Given the description of an element on the screen output the (x, y) to click on. 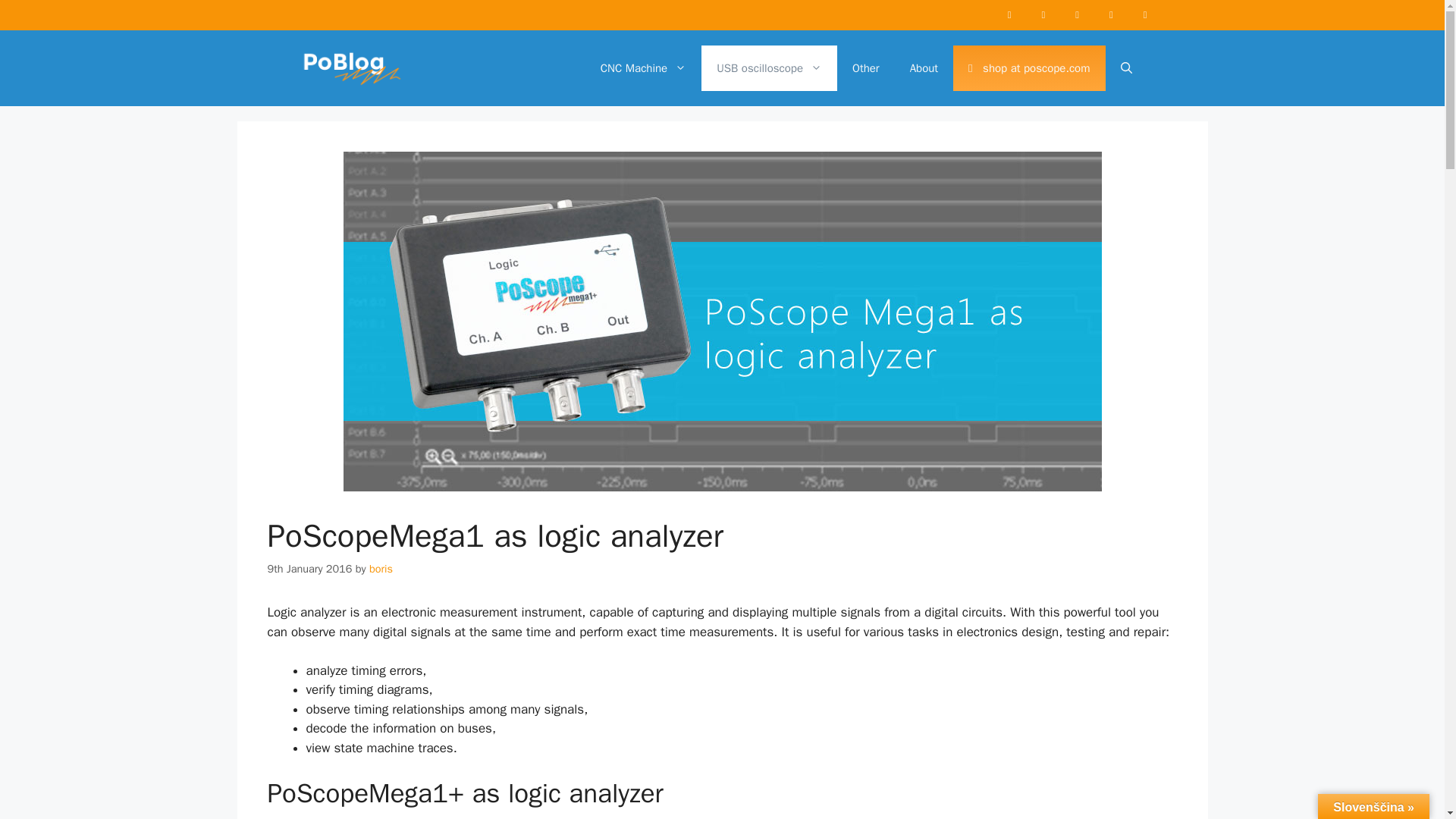
View all posts by boris (381, 568)
USB oscilloscope (769, 67)
boris (381, 568)
Other (866, 67)
CNC Machine (643, 67)
   shop at poscope.com (1029, 67)
About (924, 67)
